Given the description of an element on the screen output the (x, y) to click on. 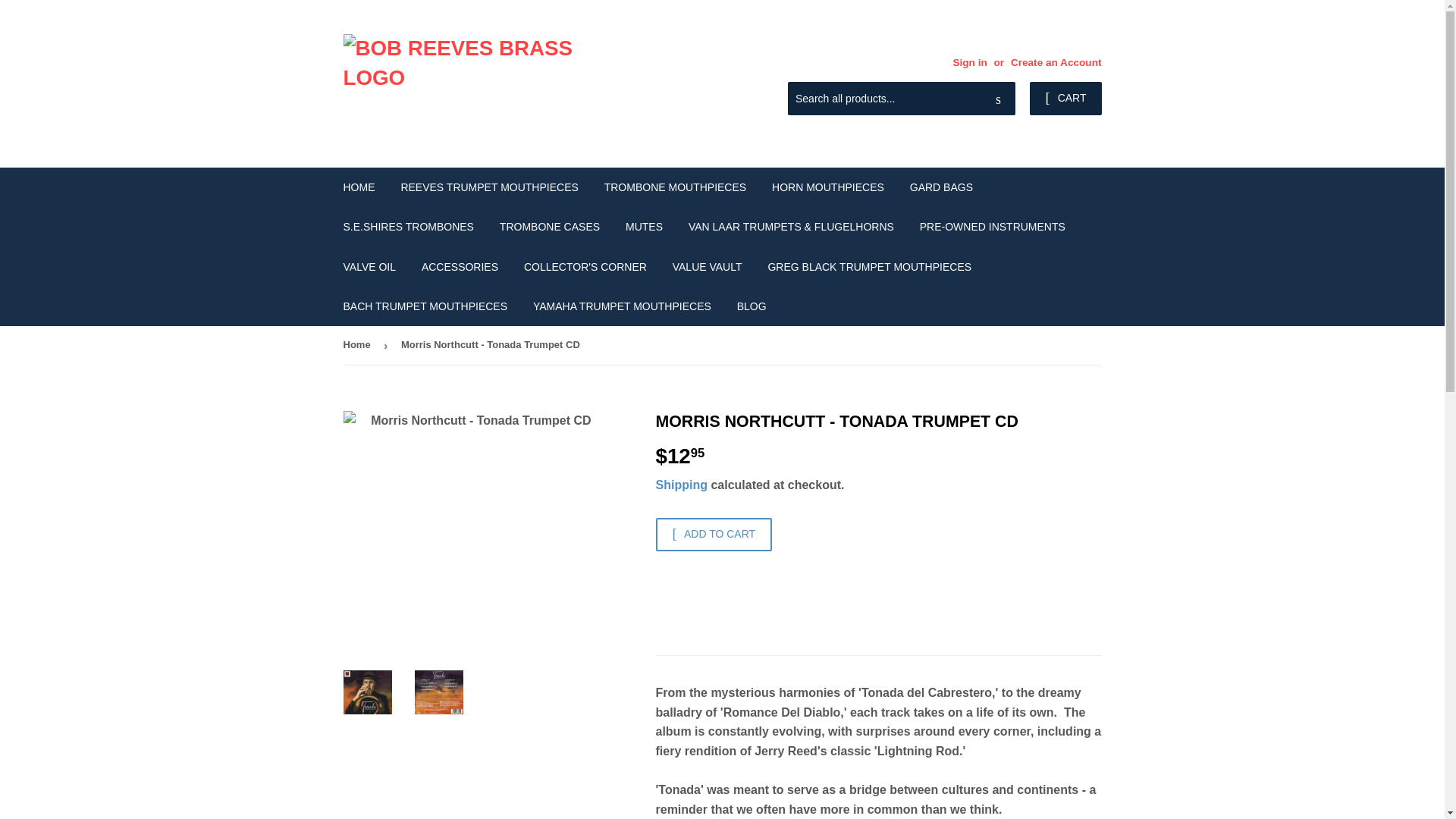
Sign in (969, 61)
GARD BAGS (941, 187)
TROMBONE MOUTHPIECES (674, 187)
MUTES (644, 226)
S.E.SHIRES TROMBONES (407, 226)
REEVES TRUMPET MOUTHPIECES (488, 187)
HOME (359, 187)
VALVE OIL (369, 266)
ACCESSORIES (459, 266)
TROMBONE CASES (549, 226)
